Given the description of an element on the screen output the (x, y) to click on. 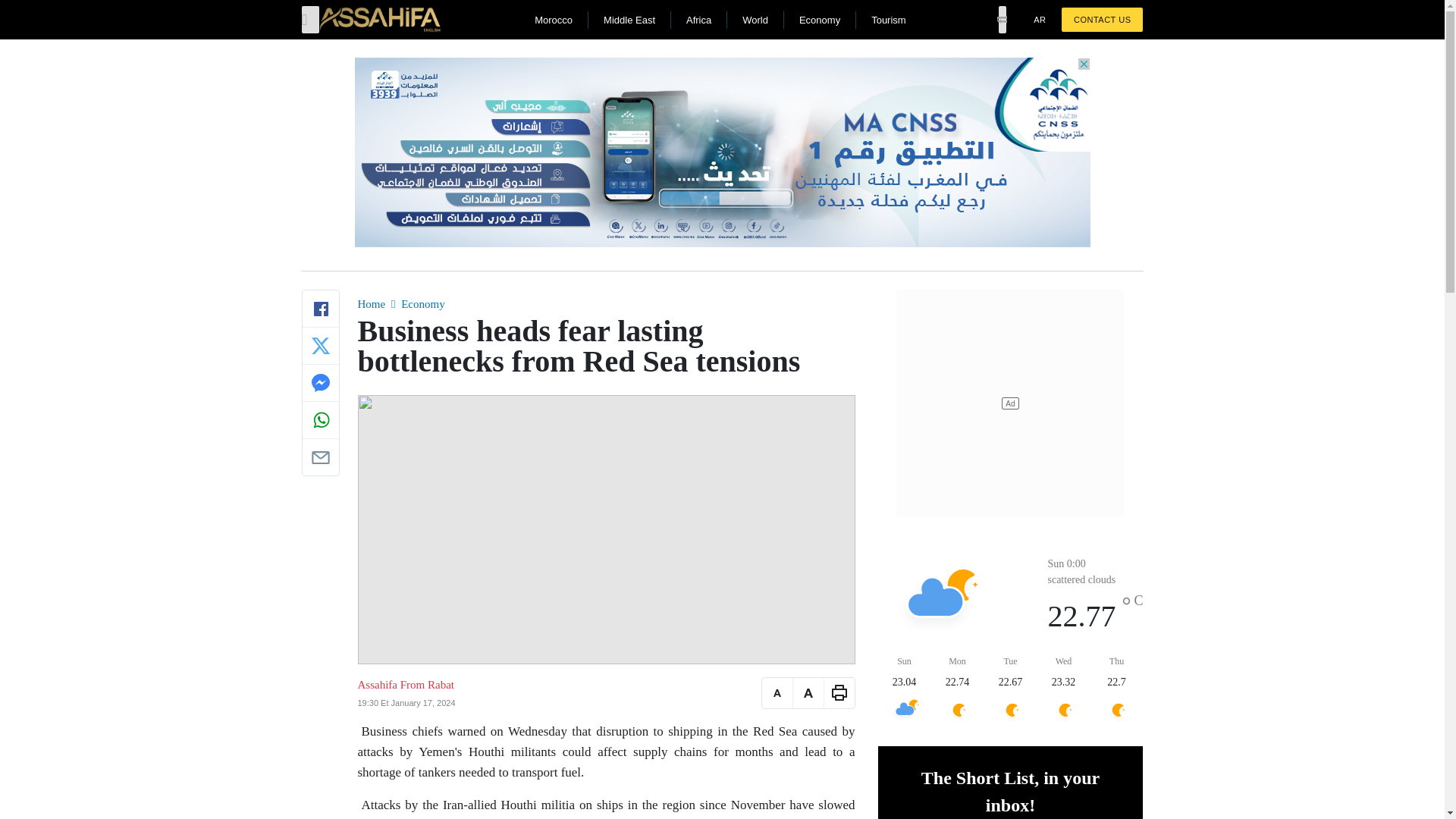
Home (371, 304)
Tourism (887, 20)
Middle East (629, 20)
Morocco (553, 20)
Africa (698, 20)
AR (1039, 19)
CONTACT US (1101, 19)
Economy (819, 20)
World (755, 20)
Economy (423, 304)
